Given the description of an element on the screen output the (x, y) to click on. 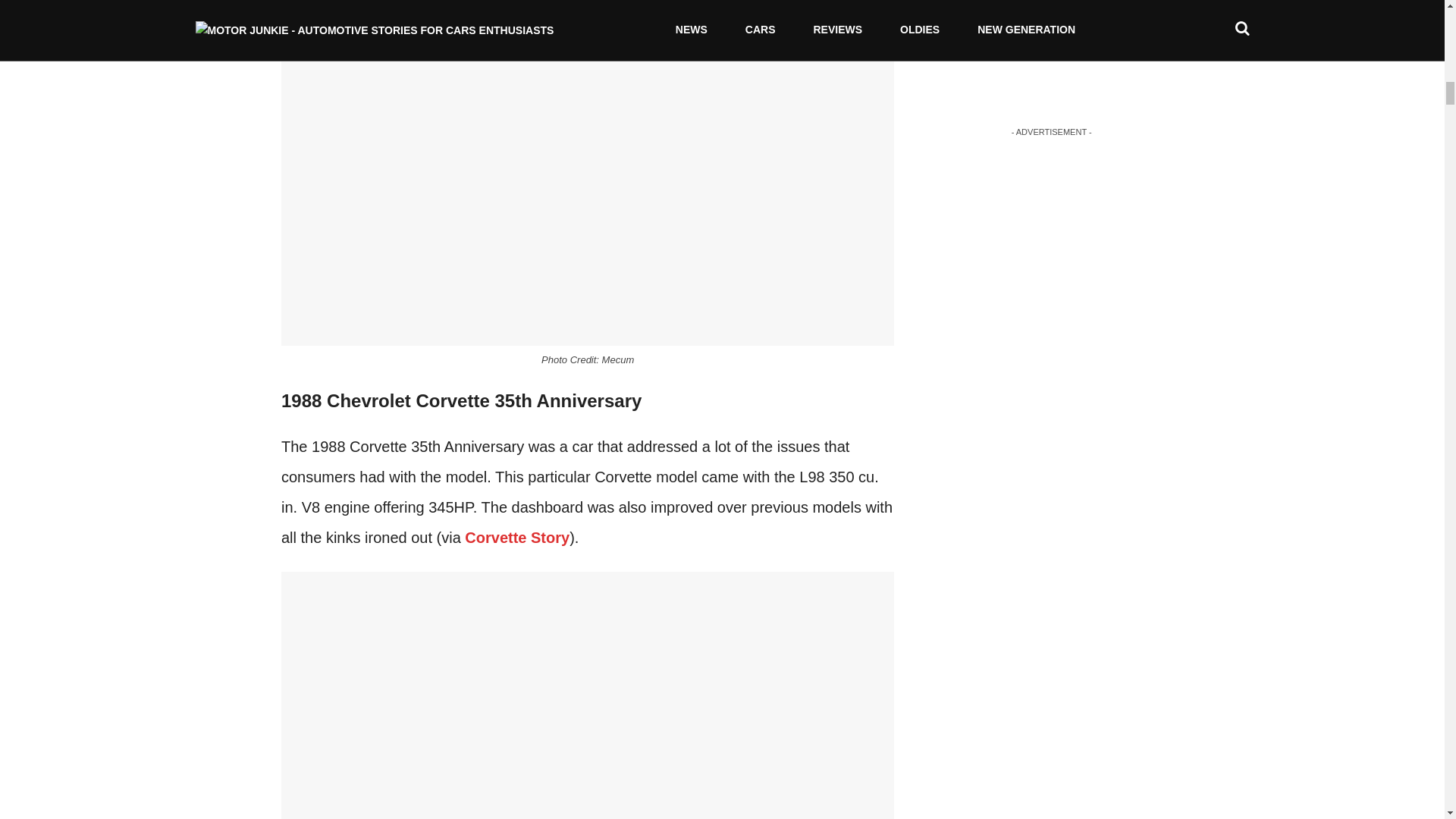
Corvette Story (516, 537)
